Given the description of an element on the screen output the (x, y) to click on. 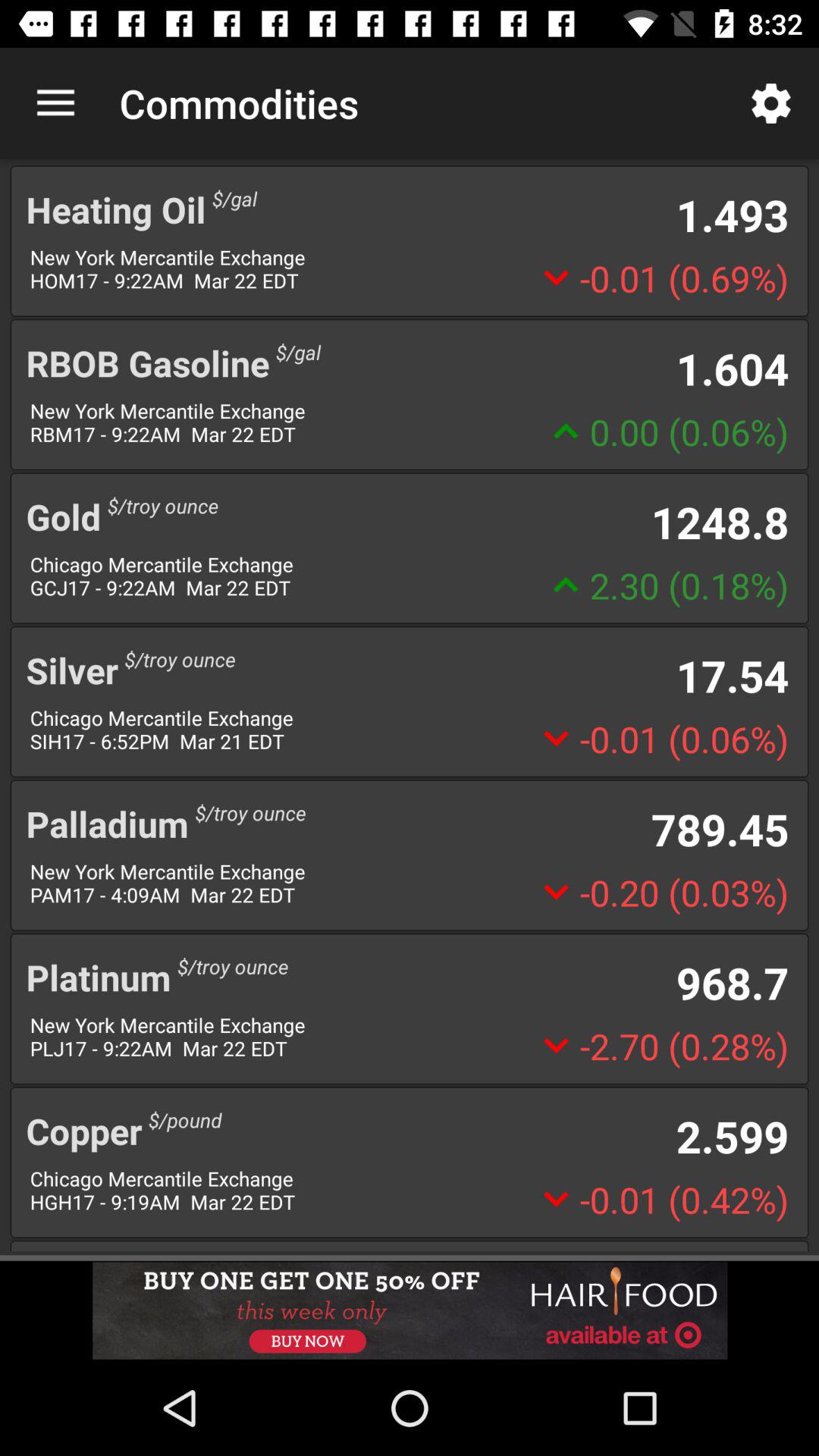
open advertisement (409, 1310)
